Given the description of an element on the screen output the (x, y) to click on. 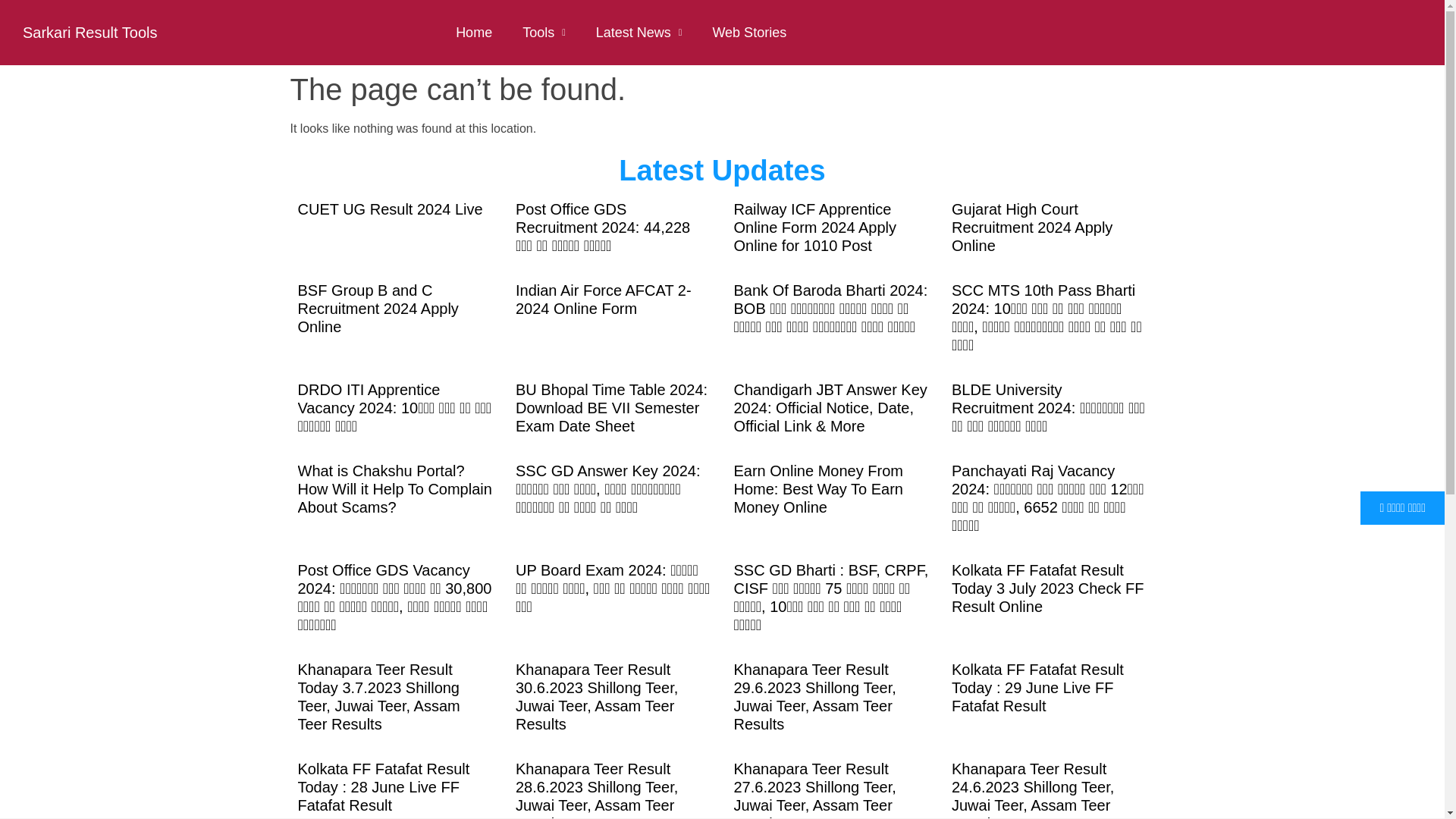
Home (473, 32)
Latest News (638, 32)
Sarkari Result Tools (90, 32)
Web Stories (749, 32)
Tools (543, 32)
Advertisement (729, 779)
